Given the description of an element on the screen output the (x, y) to click on. 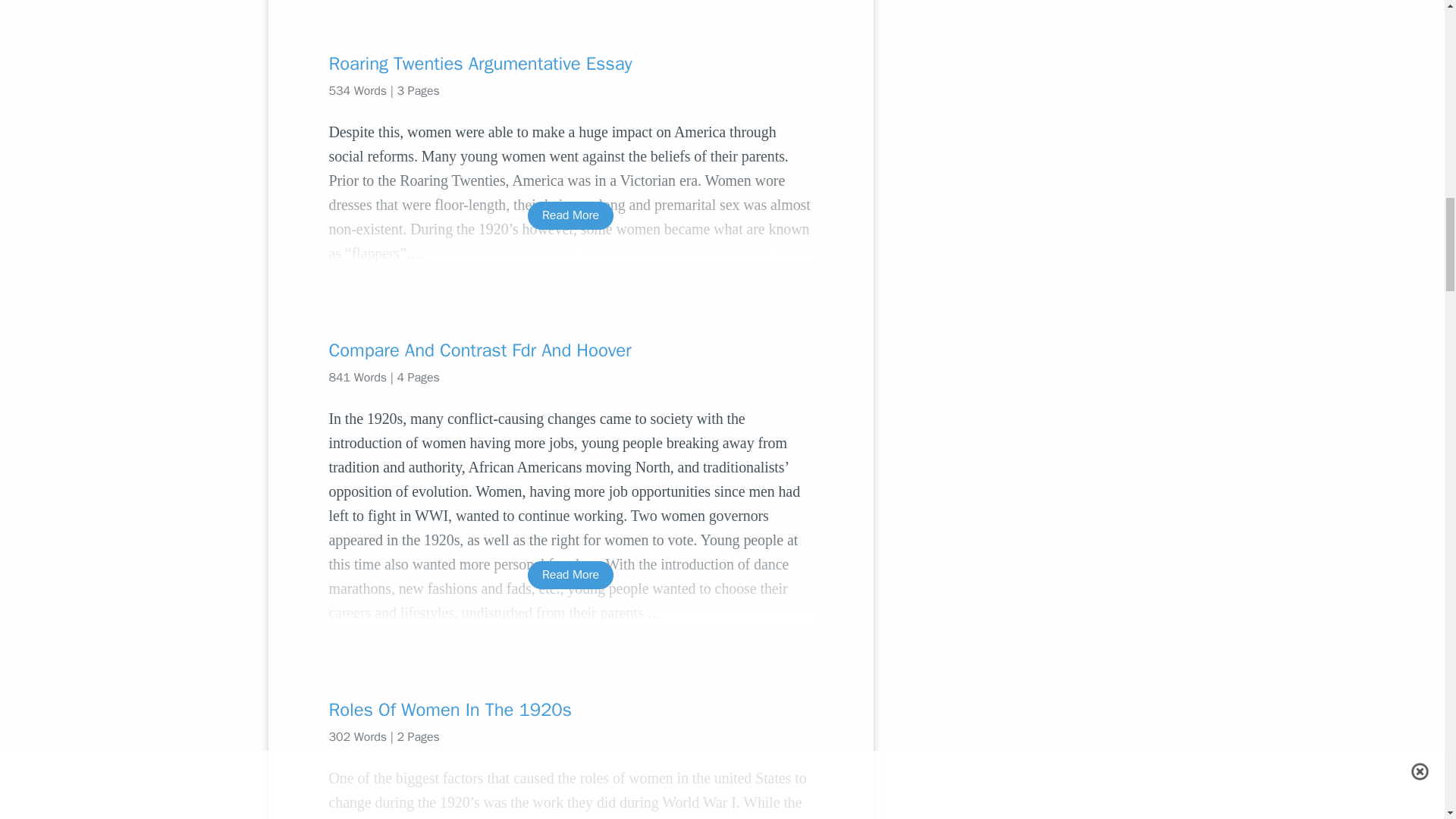
Read More (569, 215)
Read More (569, 574)
Roles Of Women In The 1920s (570, 709)
Compare And Contrast Fdr And Hoover (570, 350)
Roaring Twenties Argumentative Essay (570, 63)
